Given the description of an element on the screen output the (x, y) to click on. 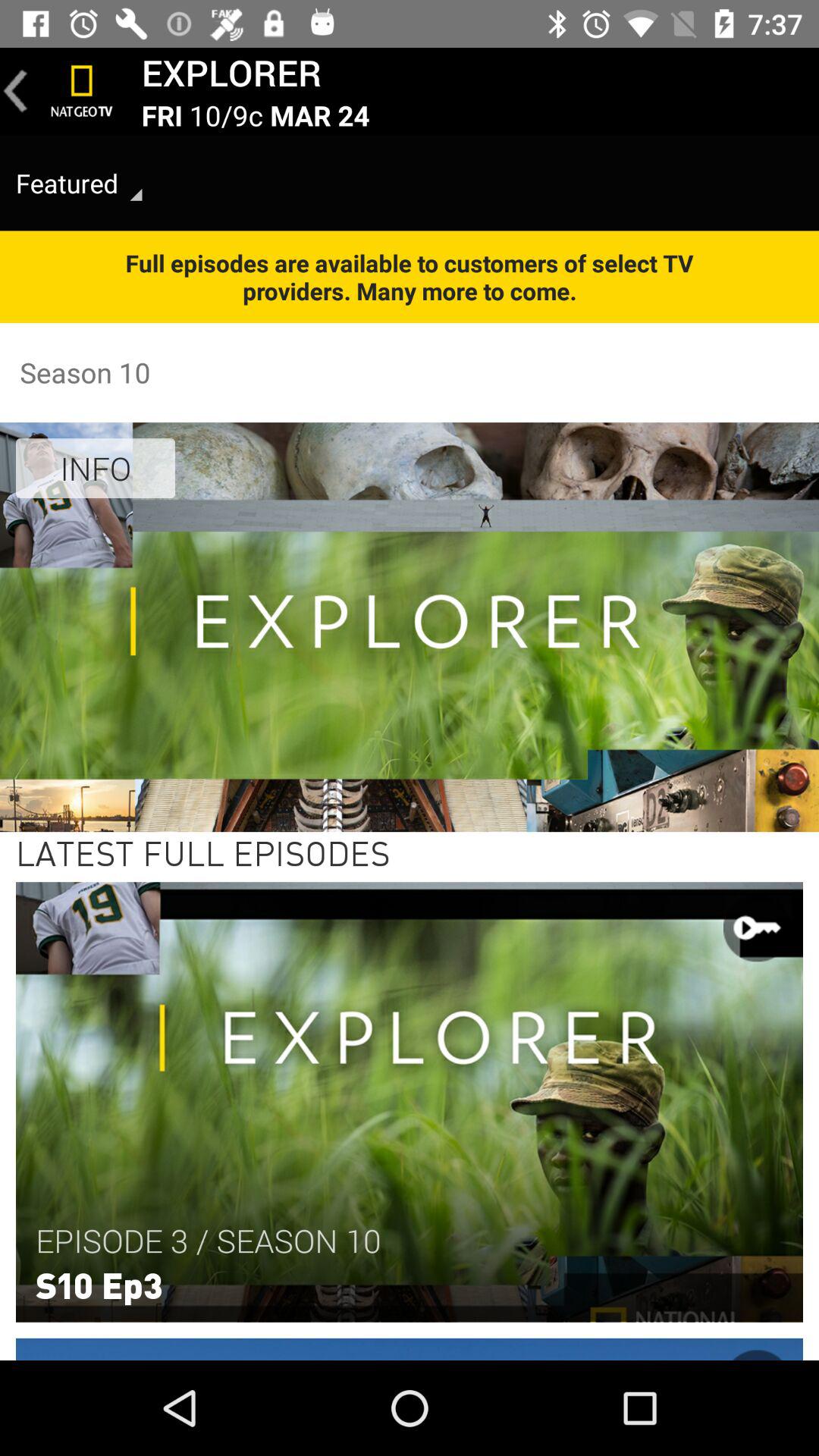
tap item below season 10 item (95, 468)
